Given the description of an element on the screen output the (x, y) to click on. 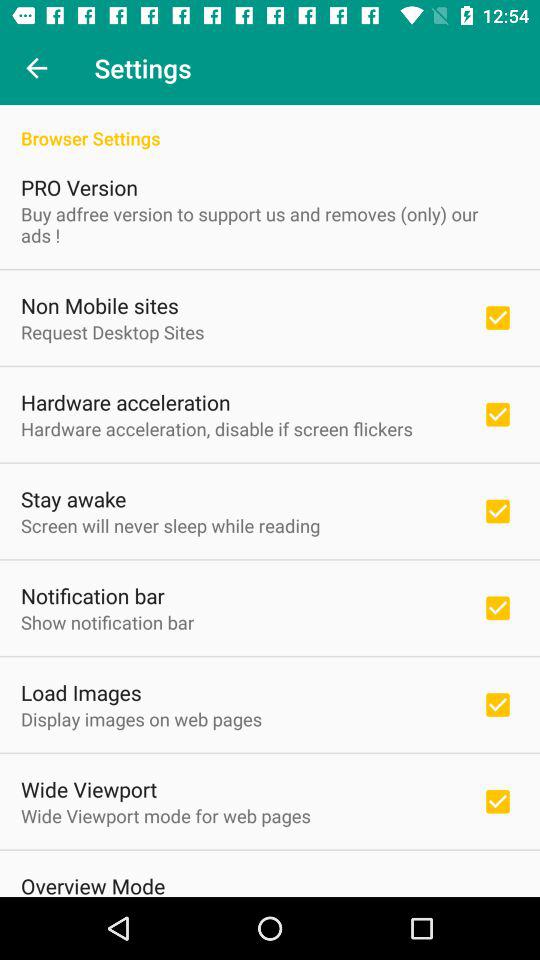
swipe until overview mode (93, 883)
